Given the description of an element on the screen output the (x, y) to click on. 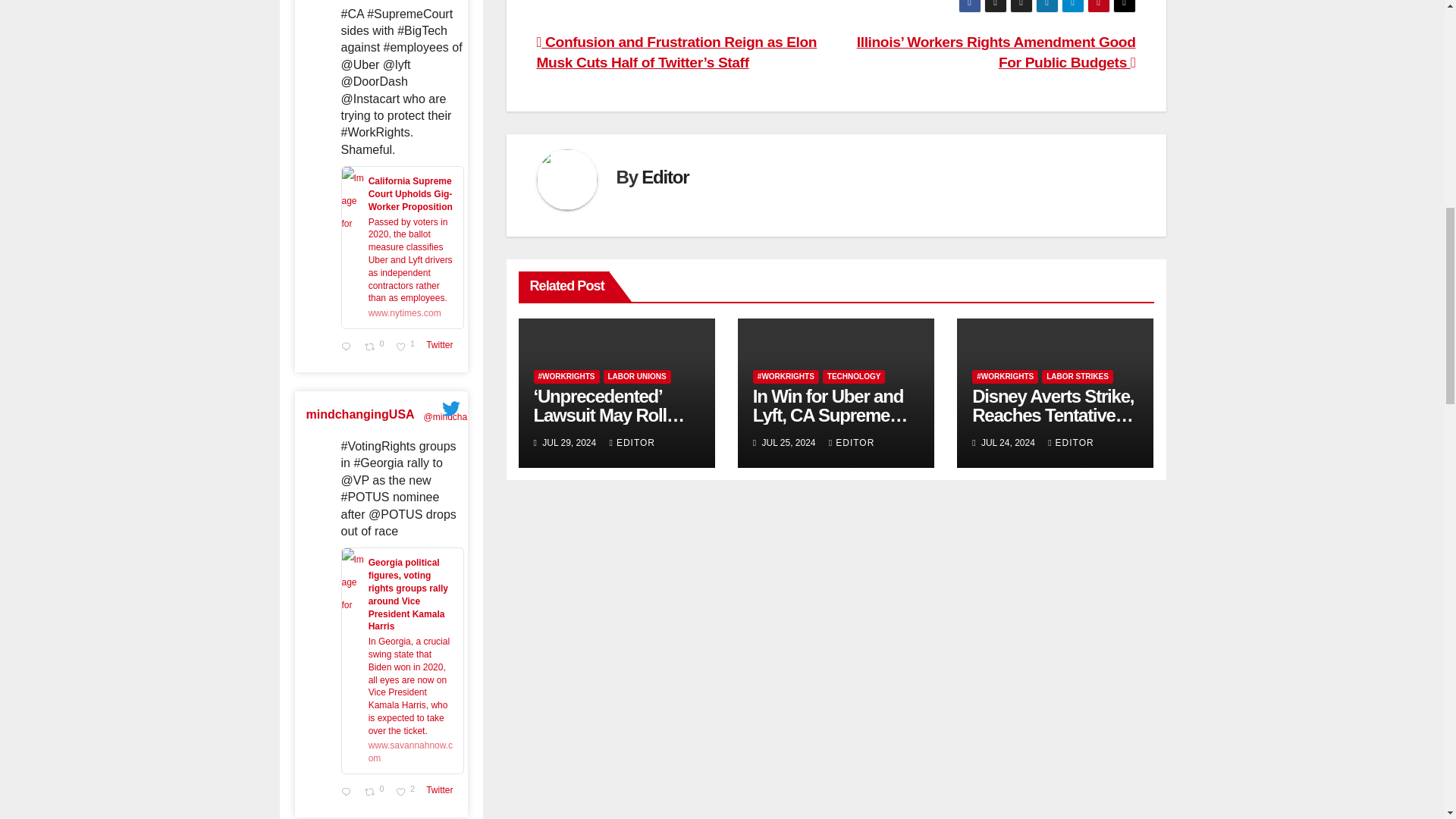
mindchangingUSA (376, 347)
Twitter 1816619330622325172 (359, 414)
Reply on Twitter 1816619330622325172 (442, 349)
Reply on Twitter 1815932695358406866 (407, 347)
